Given the description of an element on the screen output the (x, y) to click on. 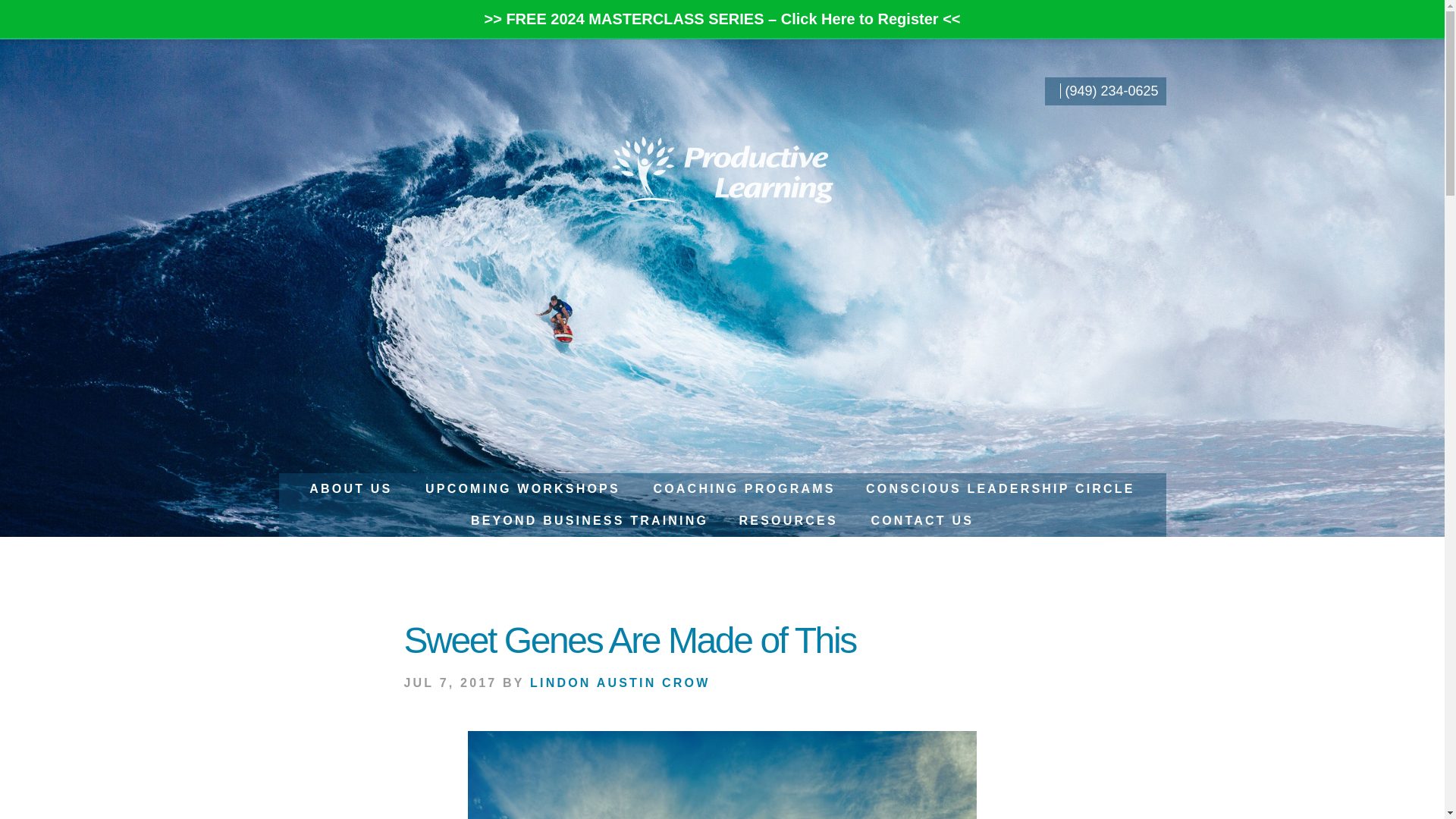
RESOURCES (788, 521)
COACHING PROGRAMS (743, 489)
CONSCIOUS LEADERSHIP CIRCLE (999, 489)
UPCOMING WORKSHOPS (522, 489)
LEARN MORE (1147, 57)
BEYOND BUSINESS TRAINING (589, 521)
LEARN MORE (1147, 20)
ABOUT US (350, 489)
CONTACT US (922, 521)
